Given the description of an element on the screen output the (x, y) to click on. 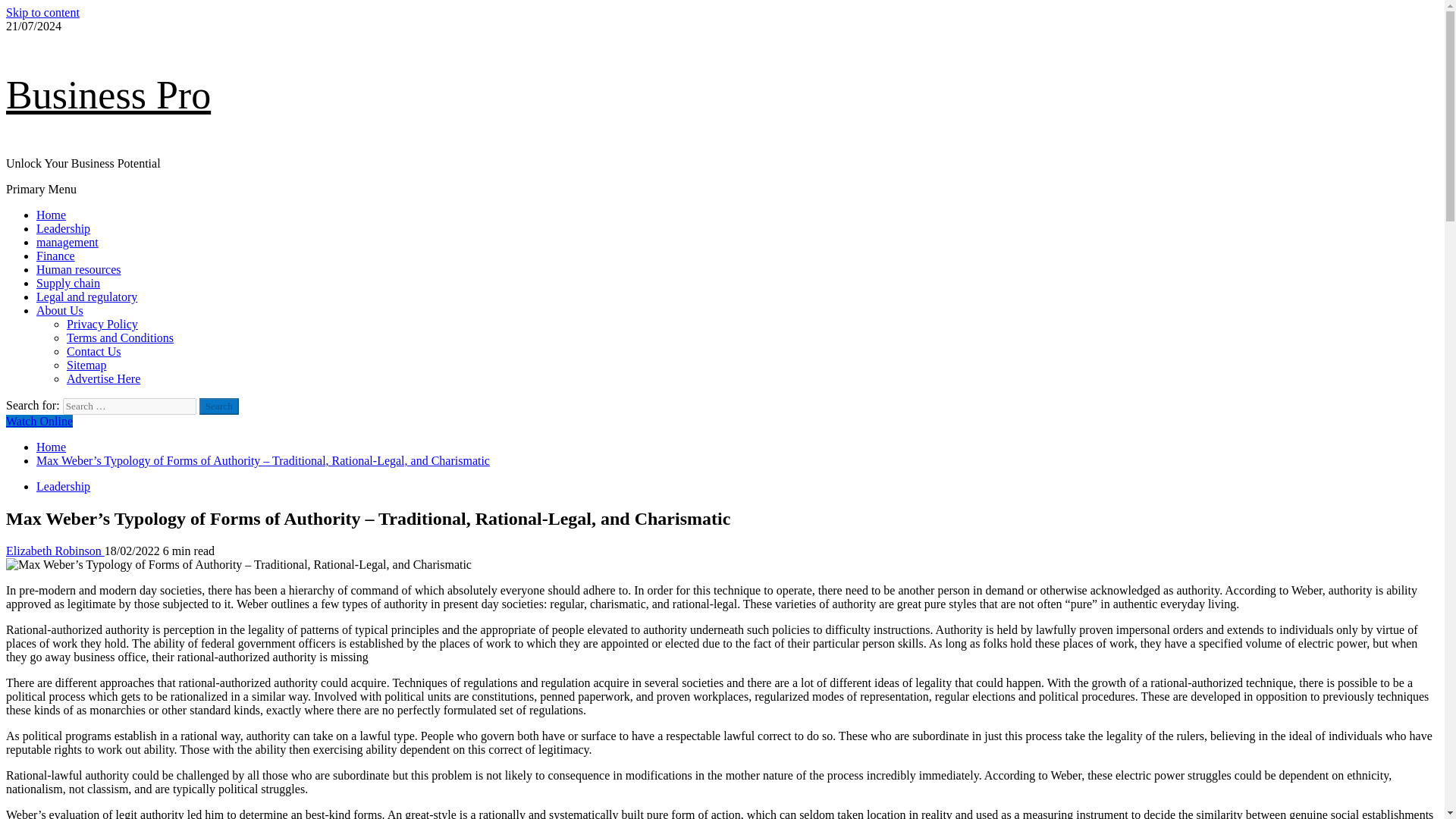
Finance (55, 255)
Human resources (78, 269)
Search (218, 406)
Terms and Conditions (119, 337)
Legal and regulatory (86, 296)
Watch Online (38, 420)
Skip to content (42, 11)
Leadership (63, 486)
Home (50, 214)
Business Pro (108, 95)
About Us (59, 309)
Privacy Policy (102, 323)
Contact Us (93, 350)
Advertise Here (102, 378)
Search (218, 406)
